Given the description of an element on the screen output the (x, y) to click on. 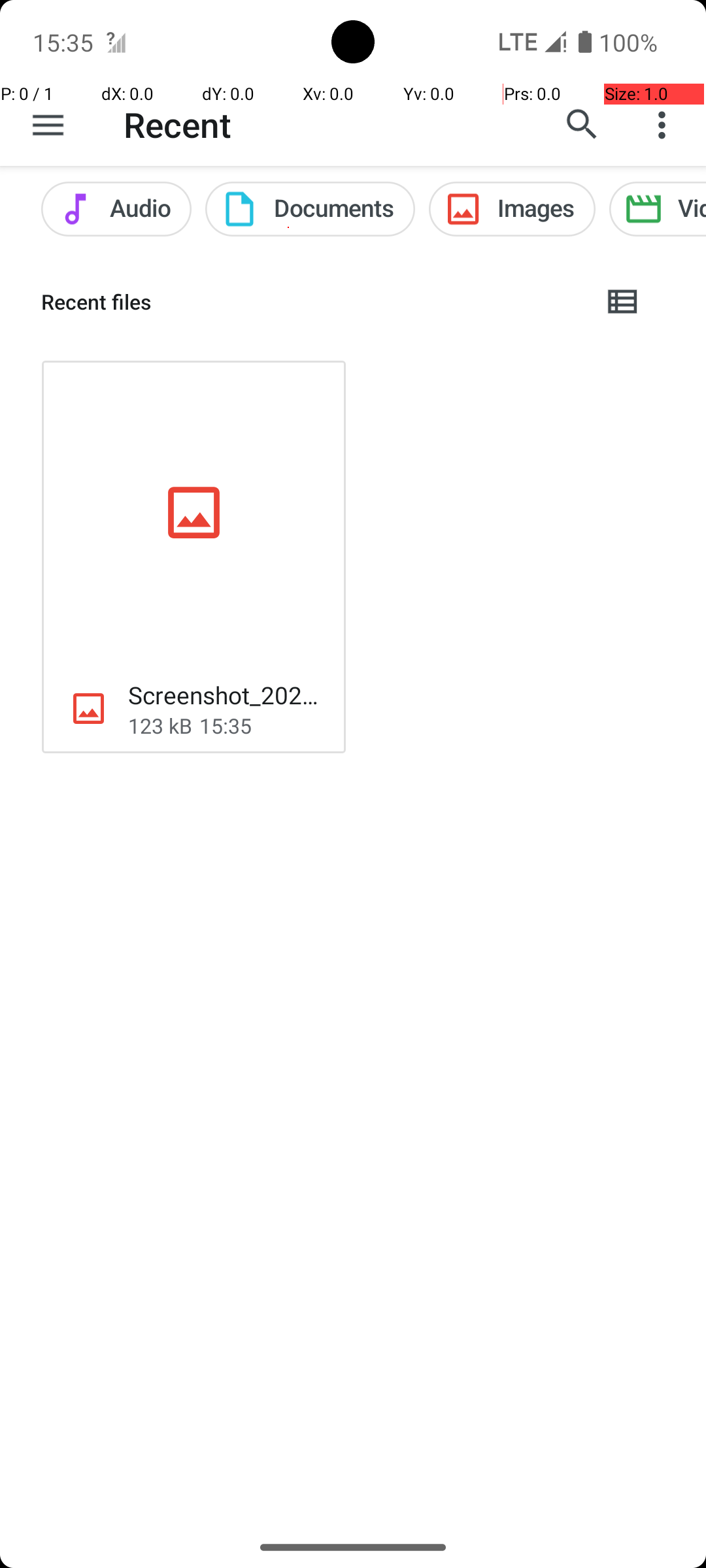
Screenshot_20231015-153555.png Element type: android.widget.TextView (226, 694)
123 kB Element type: android.widget.TextView (160, 725)
